Given the description of an element on the screen output the (x, y) to click on. 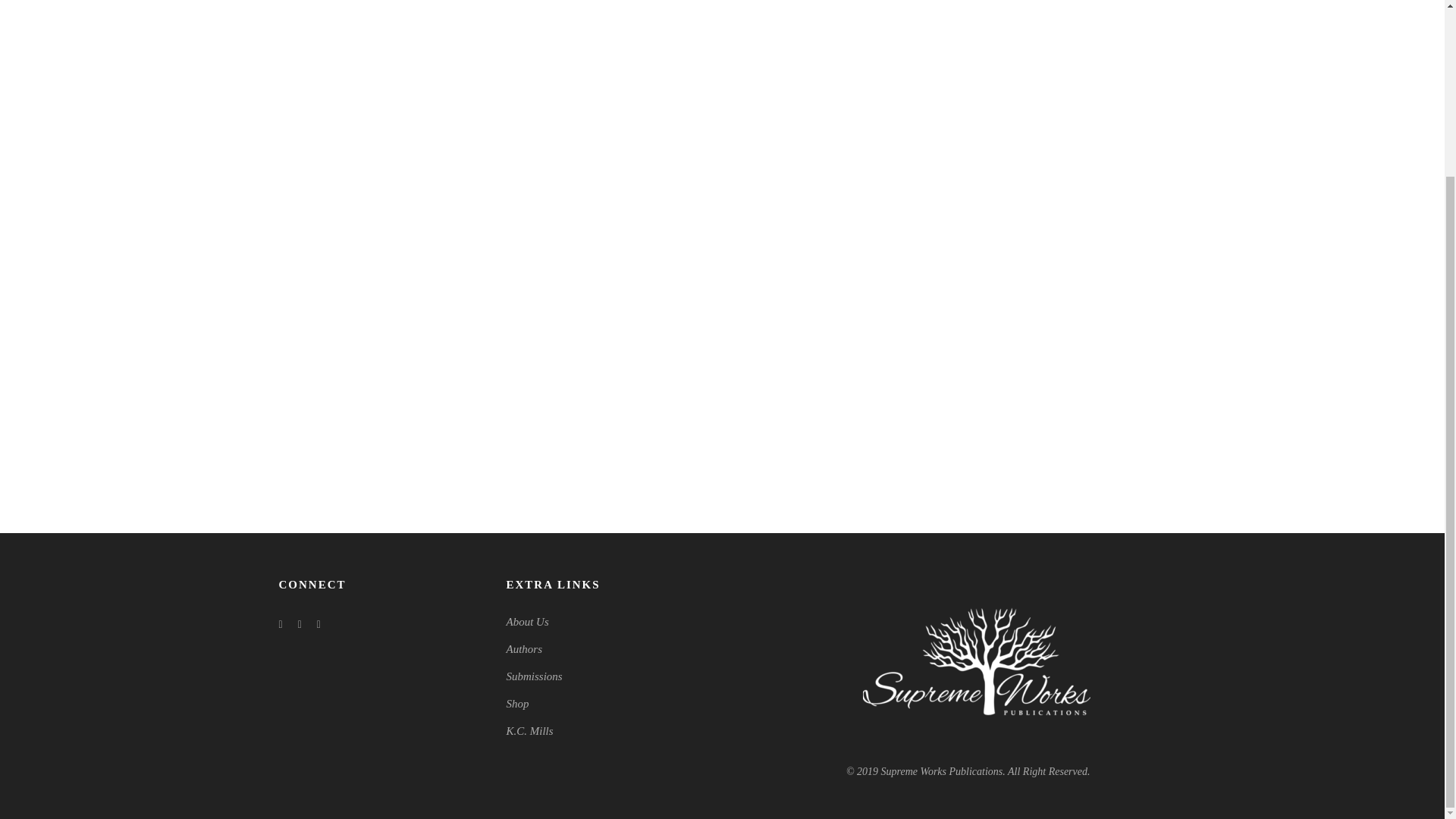
About Us (527, 621)
Submissions (534, 676)
Authors (524, 648)
Shop (517, 703)
K.C. Mills (529, 730)
